Given the description of an element on the screen output the (x, y) to click on. 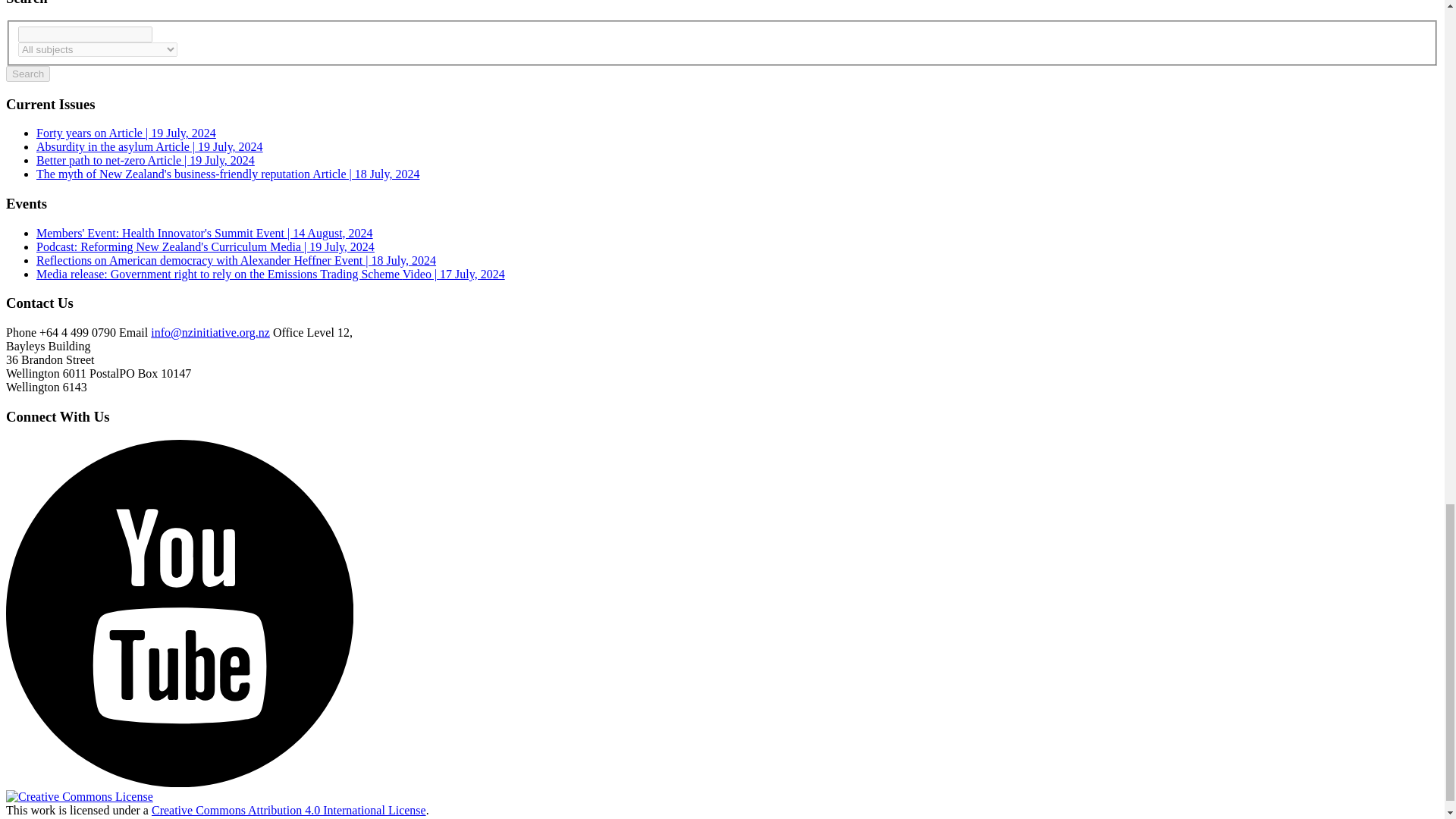
Reflections on American democracy with Alexander Heffner (235, 259)
Absurdity in the asylum (149, 146)
Podcast: Reforming New Zealand's Curriculum (205, 246)
Better path to net-zero (145, 160)
The myth of New Zealand's business-friendly reputation (227, 173)
Forty years on (125, 132)
Search (27, 73)
Search (27, 73)
Members' Event: Health Innovator's Summit (204, 232)
